Given the description of an element on the screen output the (x, y) to click on. 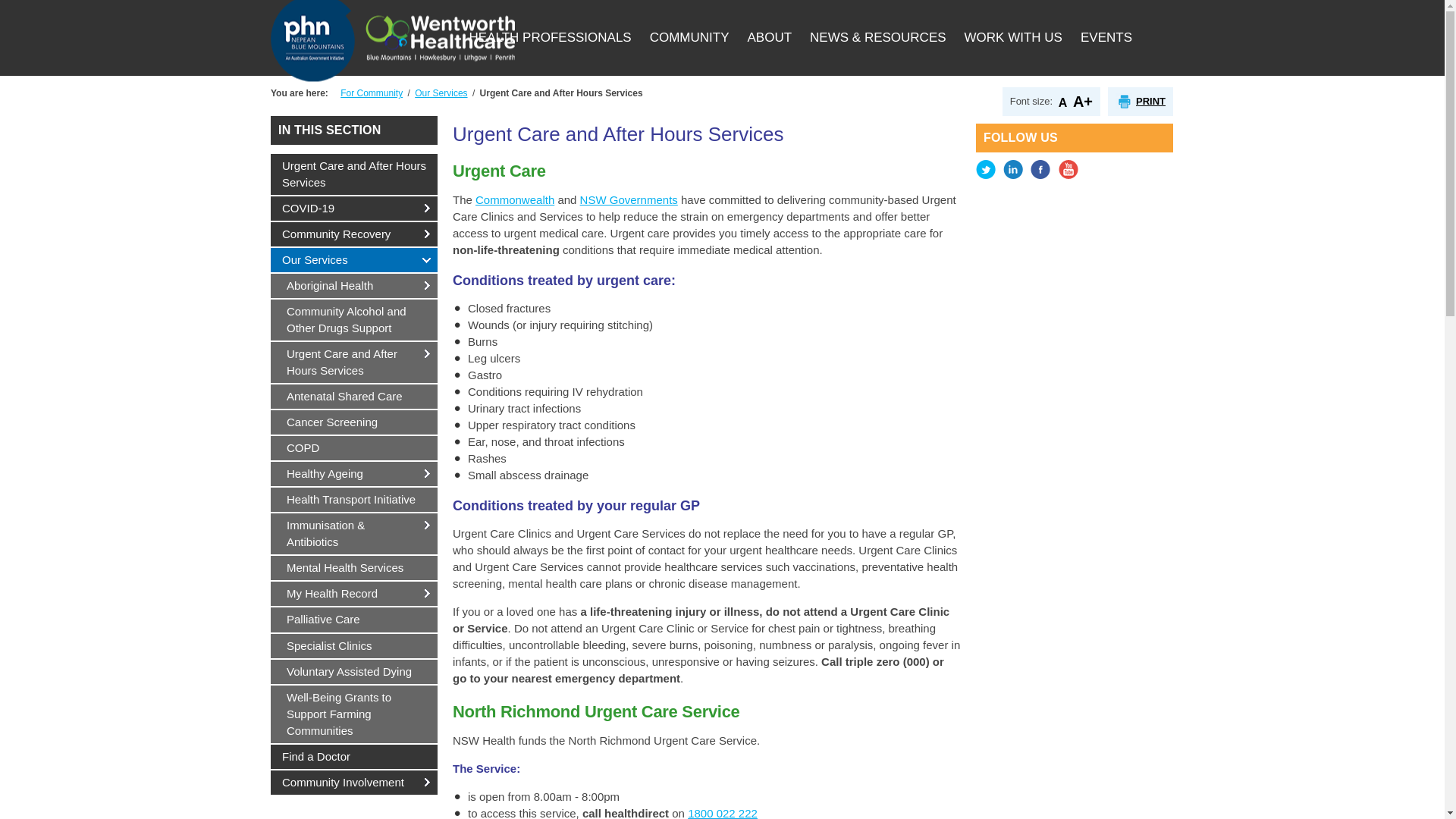
HEALTH PROFESSIONALS (550, 38)
Health Professionals (550, 38)
